Given the description of an element on the screen output the (x, y) to click on. 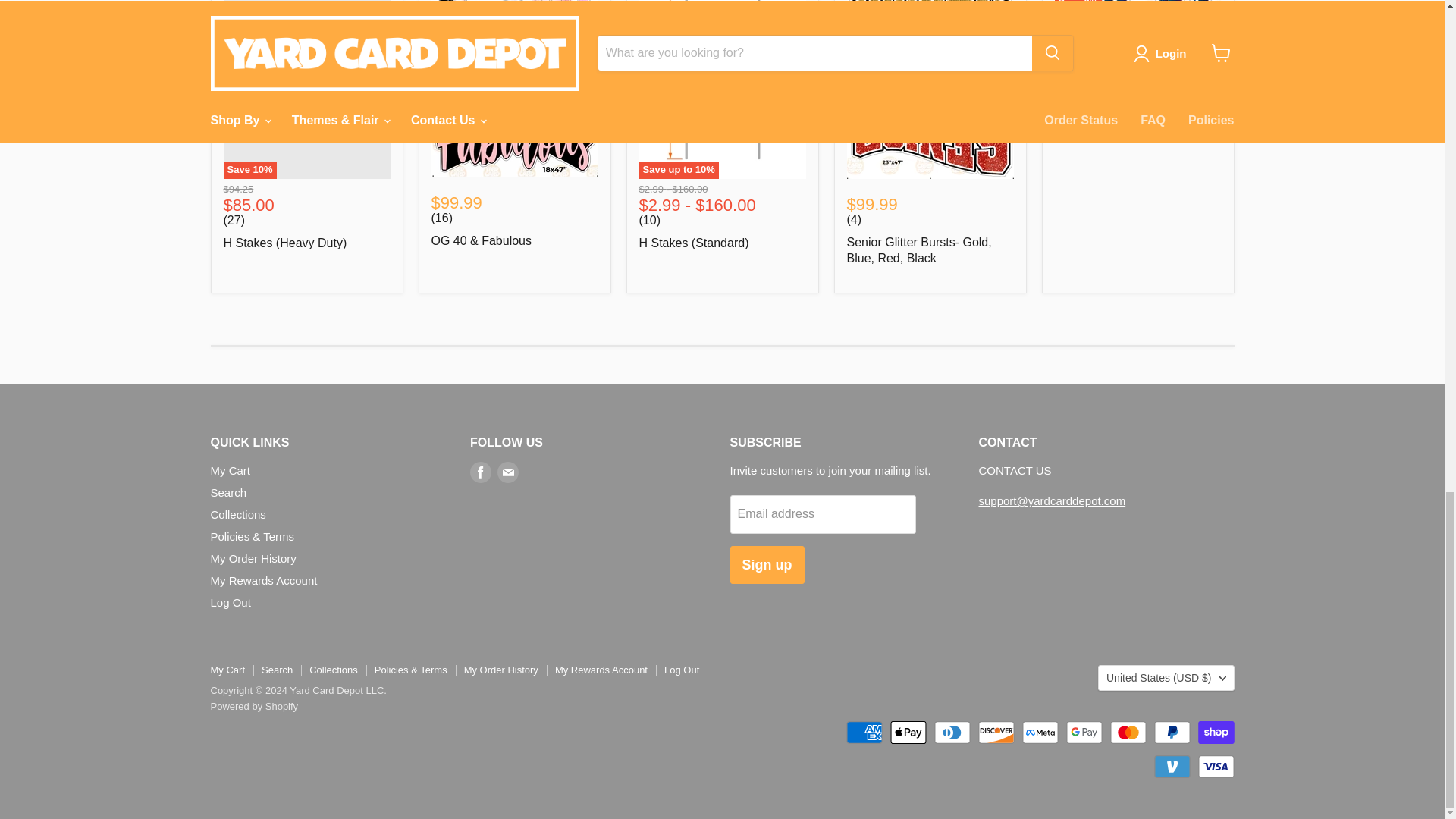
Facebook (481, 472)
PayPal (1172, 732)
Discover (996, 732)
Meta Pay (1040, 732)
Diners Club (952, 732)
Shop Pay (1216, 732)
Email (507, 472)
Google Pay (1083, 732)
Apple Pay (907, 732)
American Express (863, 732)
